Given the description of an element on the screen output the (x, y) to click on. 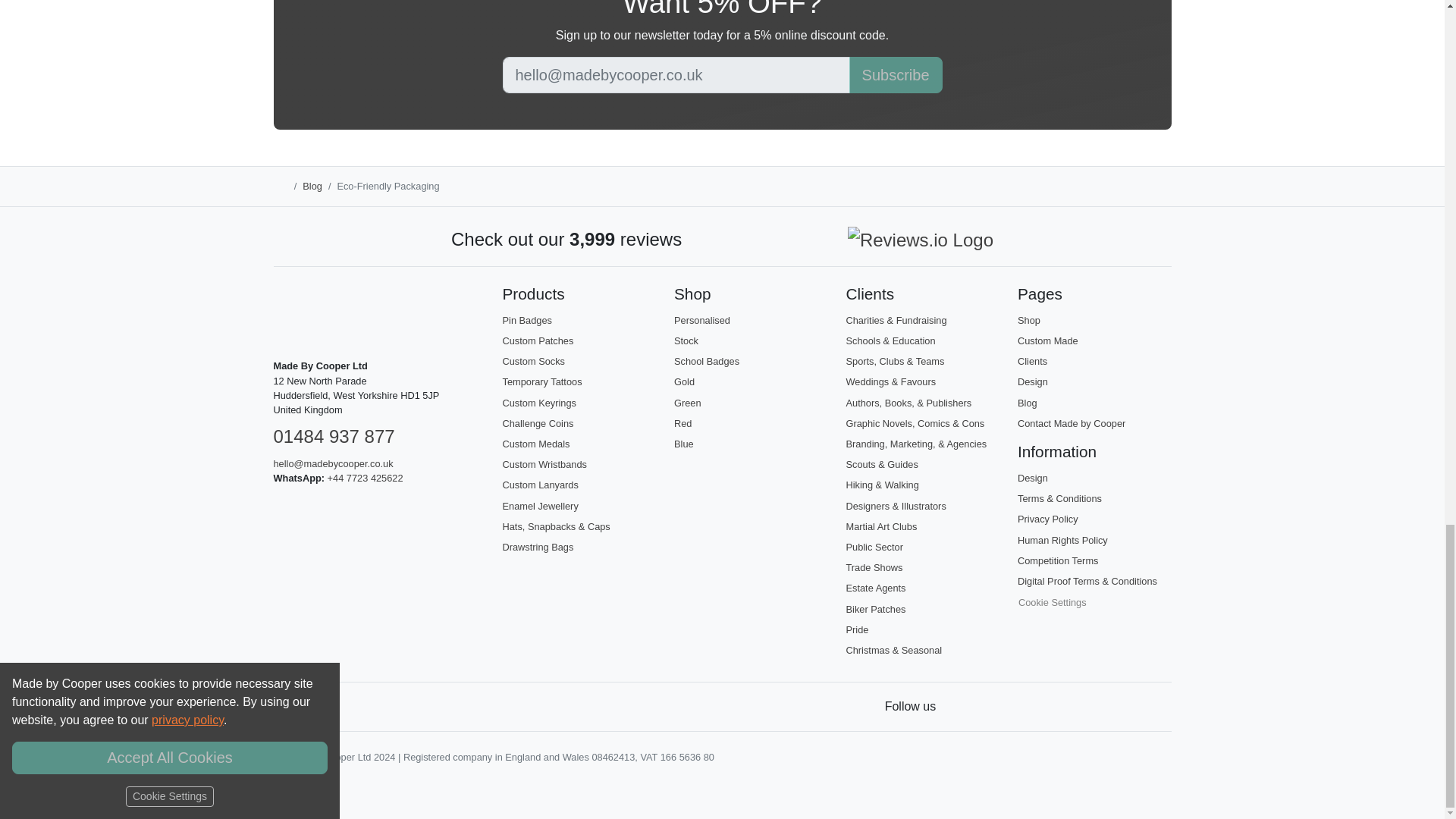
Custom Keyrings (538, 402)
Custom Patches (537, 340)
Temporary Tattoos (541, 381)
Stripe Payments Icon (285, 706)
Blog (311, 185)
Mastercard Icon (352, 706)
Paypal Icon (419, 706)
Custom Socks (533, 360)
Challenge Coins (537, 423)
Subscribe (895, 74)
